Given the description of an element on the screen output the (x, y) to click on. 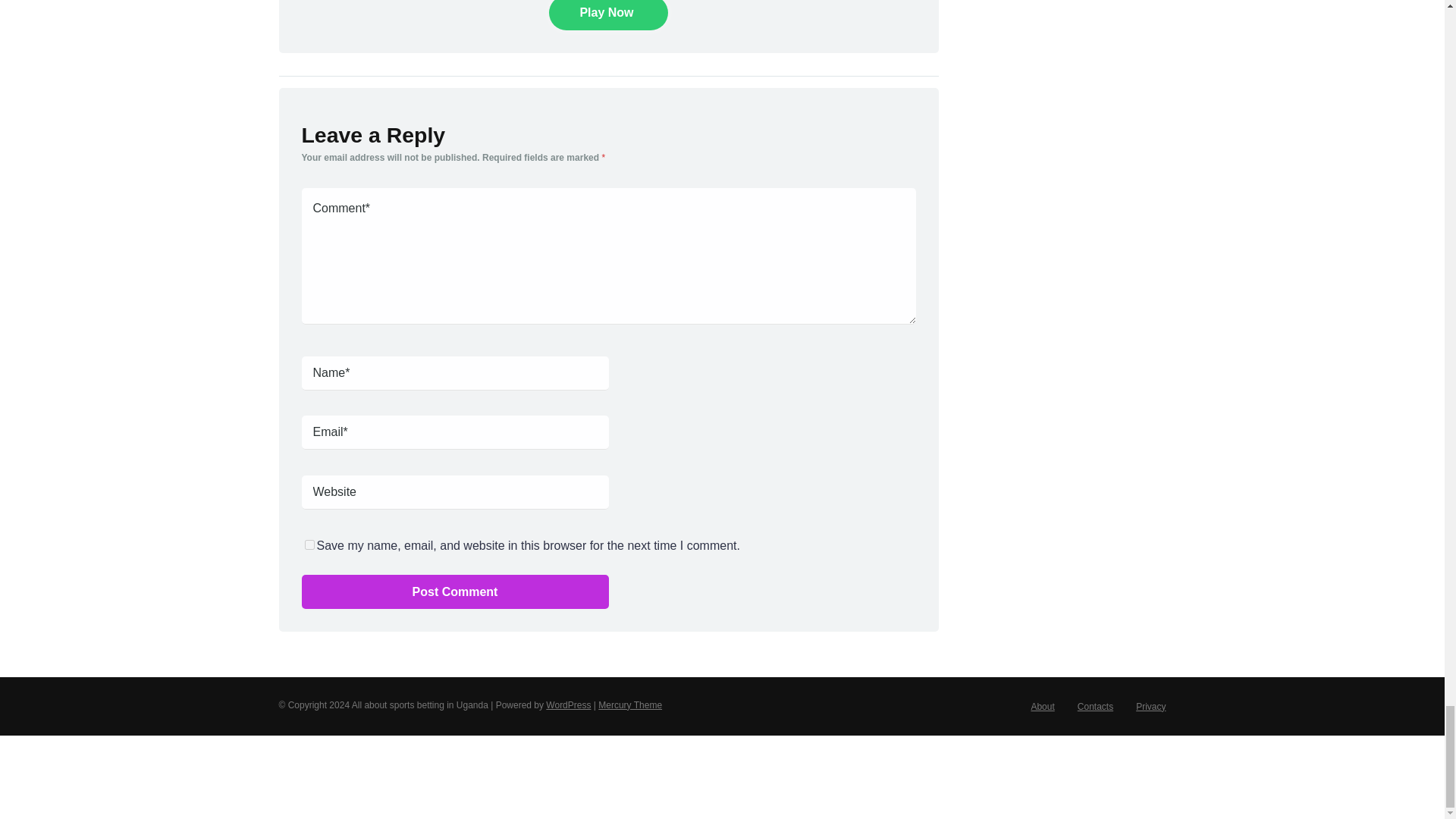
About (1042, 706)
yes (309, 544)
Mercury Theme (630, 705)
Contacts (1095, 706)
Privacy (1150, 706)
Play Now (607, 15)
WordPress (568, 705)
Post Comment (454, 591)
WordPress (568, 705)
Affiliate Marketing WordPress Theme. Reviews and Top Lists (630, 705)
